Given the description of an element on the screen output the (x, y) to click on. 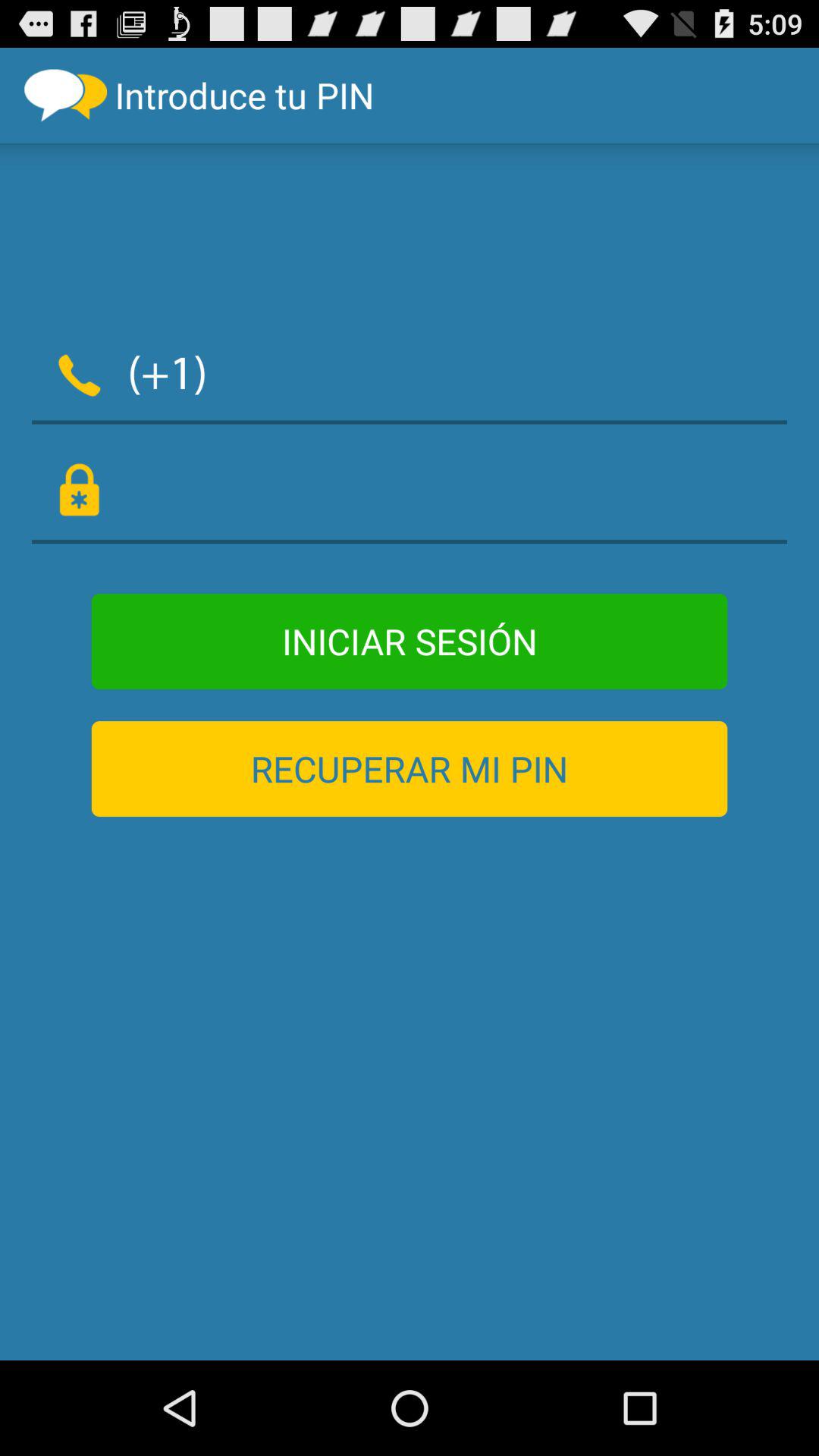
turn on the recuperar mi pin (409, 768)
